Given the description of an element on the screen output the (x, y) to click on. 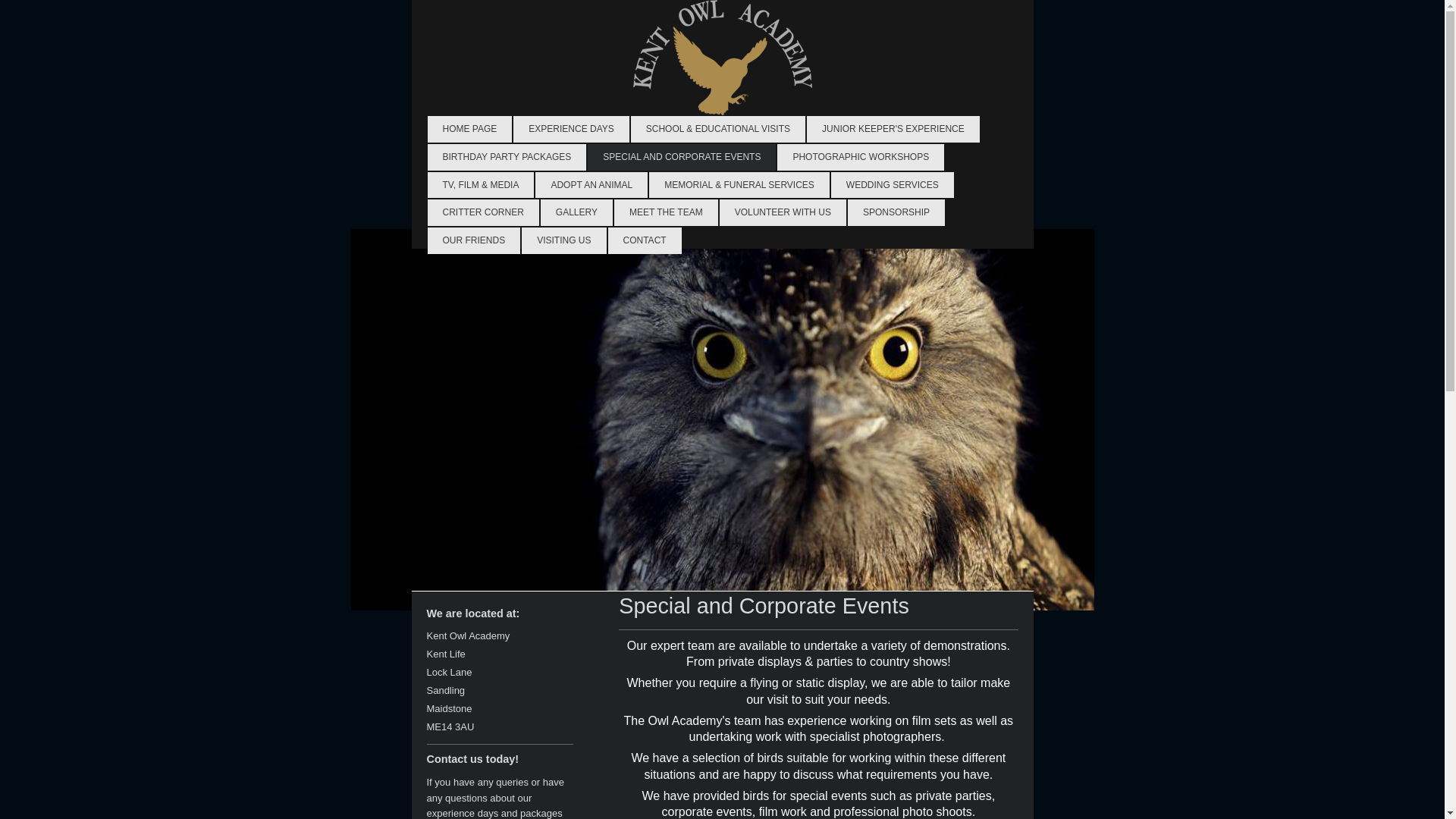
HOME PAGE (470, 129)
SPECIAL AND CORPORATE EVENTS (682, 157)
JUNIOR KEEPER'S EXPERIENCE (892, 129)
ADOPT AN ANIMAL (591, 185)
BIRTHDAY PARTY PACKAGES (507, 157)
EXPERIENCE DAYS (570, 129)
PHOTOGRAPHIC WORKSHOPS (860, 157)
